Given the description of an element on the screen output the (x, y) to click on. 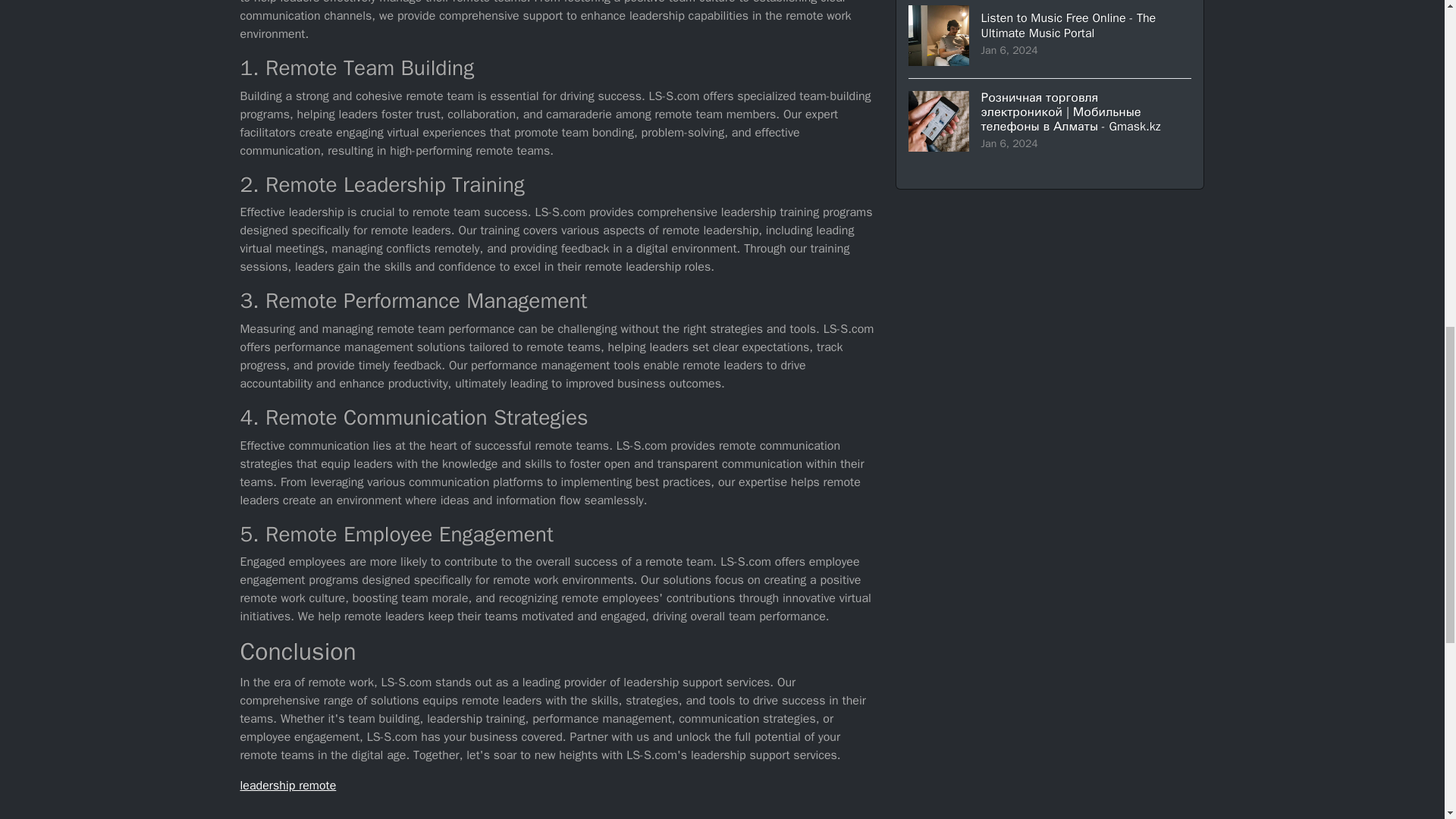
leadership remote (288, 785)
